Given the description of an element on the screen output the (x, y) to click on. 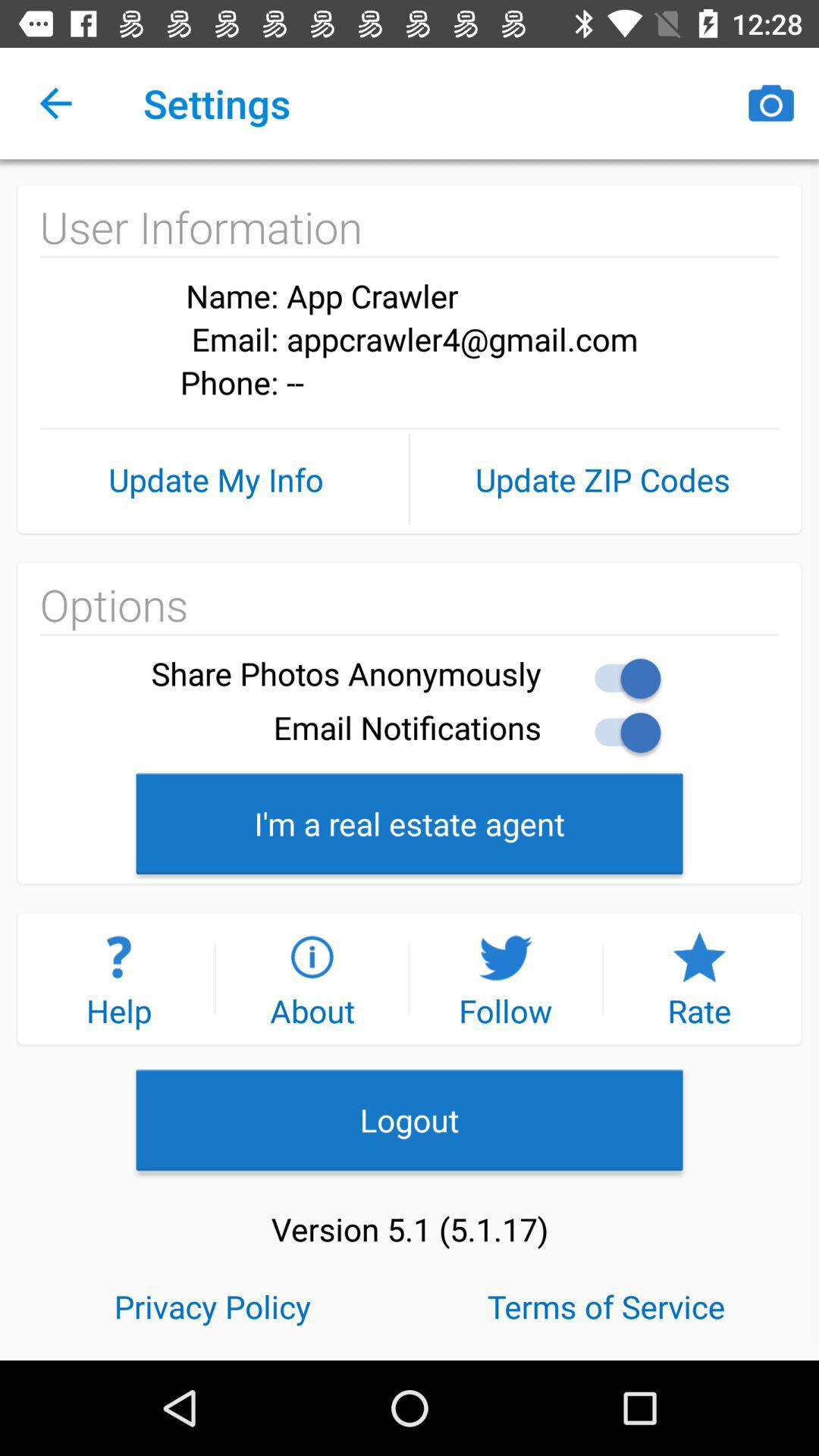
press the logout item (409, 1119)
